Given the description of an element on the screen output the (x, y) to click on. 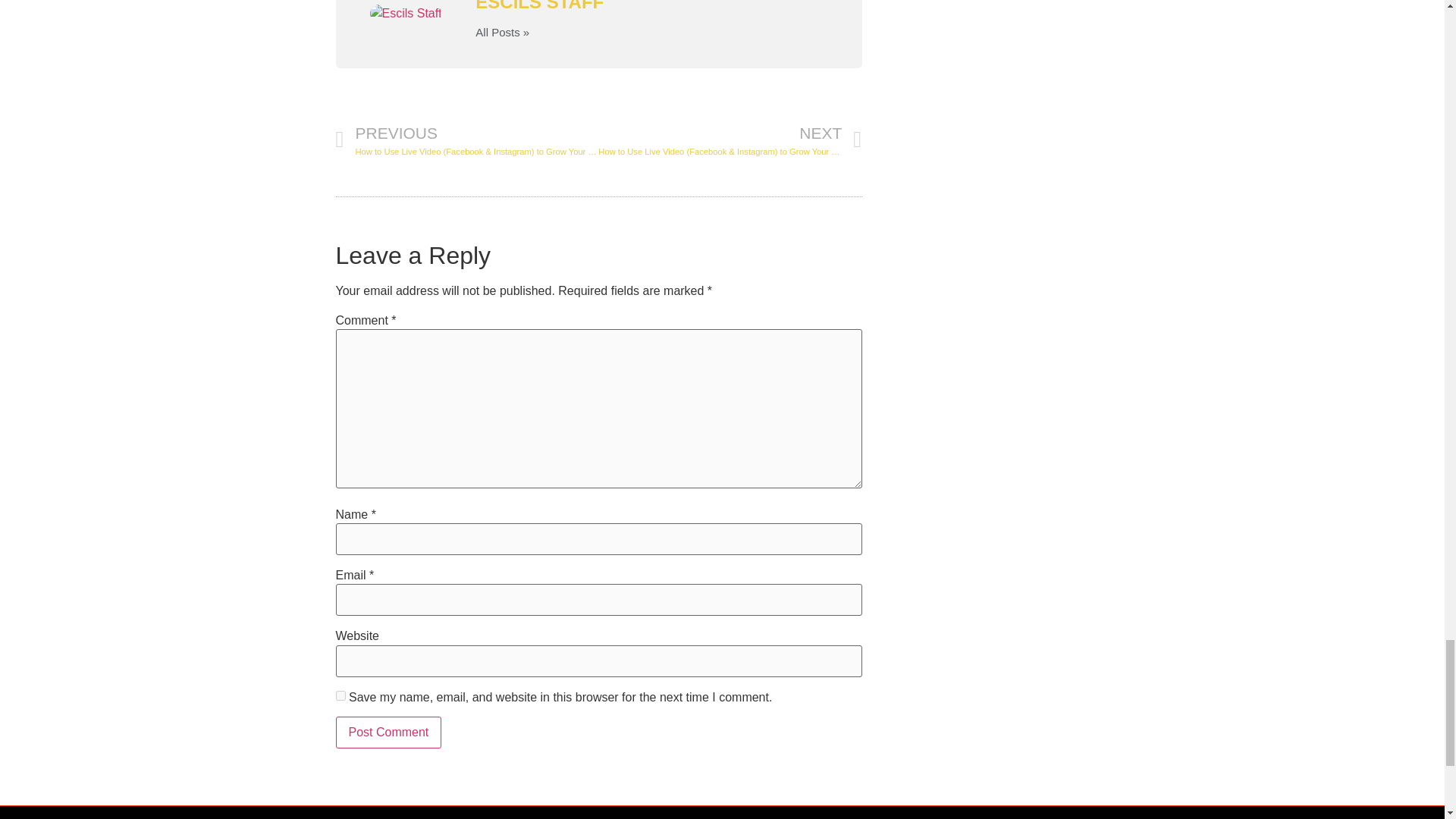
Post Comment (387, 732)
Post Comment (387, 732)
yes (339, 696)
ESCILS STAFF (652, 6)
